Given the description of an element on the screen output the (x, y) to click on. 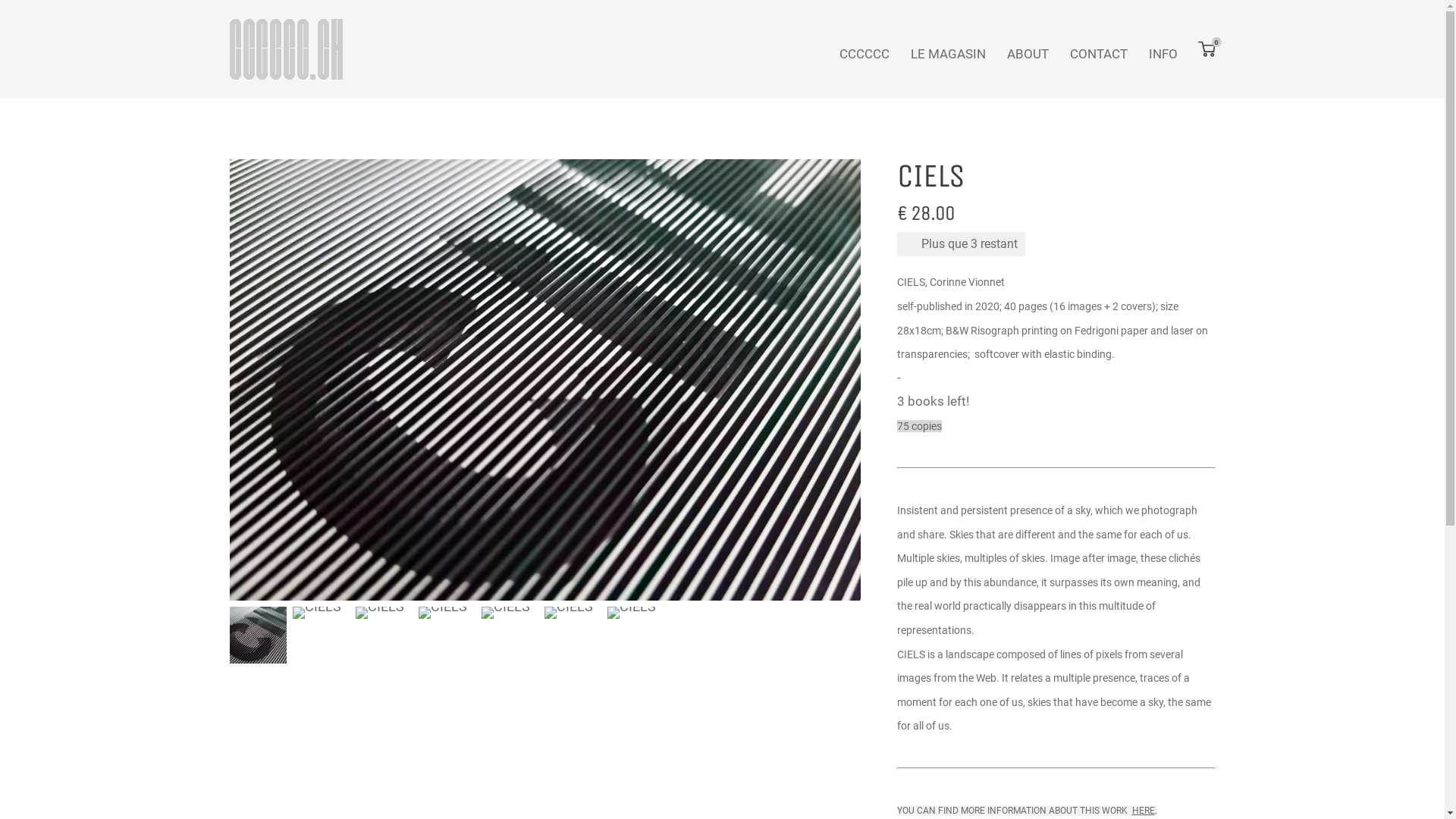
CIELS Element type: hover (544, 379)
LE MAGASIN Element type: text (947, 53)
HERE Element type: text (1142, 808)
INFO Element type: text (1162, 53)
CCCCCC Element type: text (863, 53)
CONTACT Element type: text (1097, 53)
Panier:
0 Element type: text (1206, 49)
ABOUT Element type: text (1027, 53)
